Given the description of an element on the screen output the (x, y) to click on. 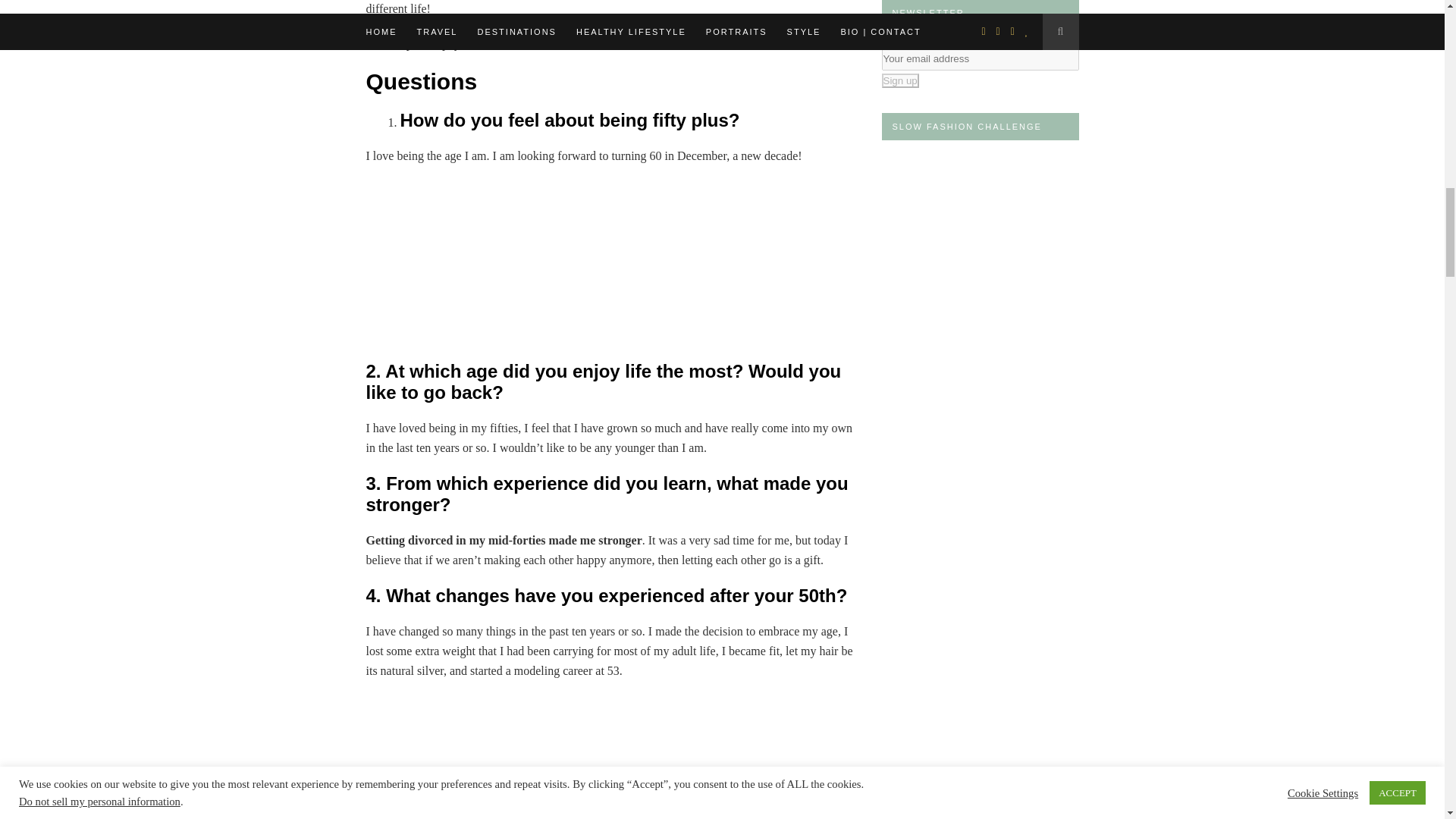
Sign up (899, 80)
